Given the description of an element on the screen output the (x, y) to click on. 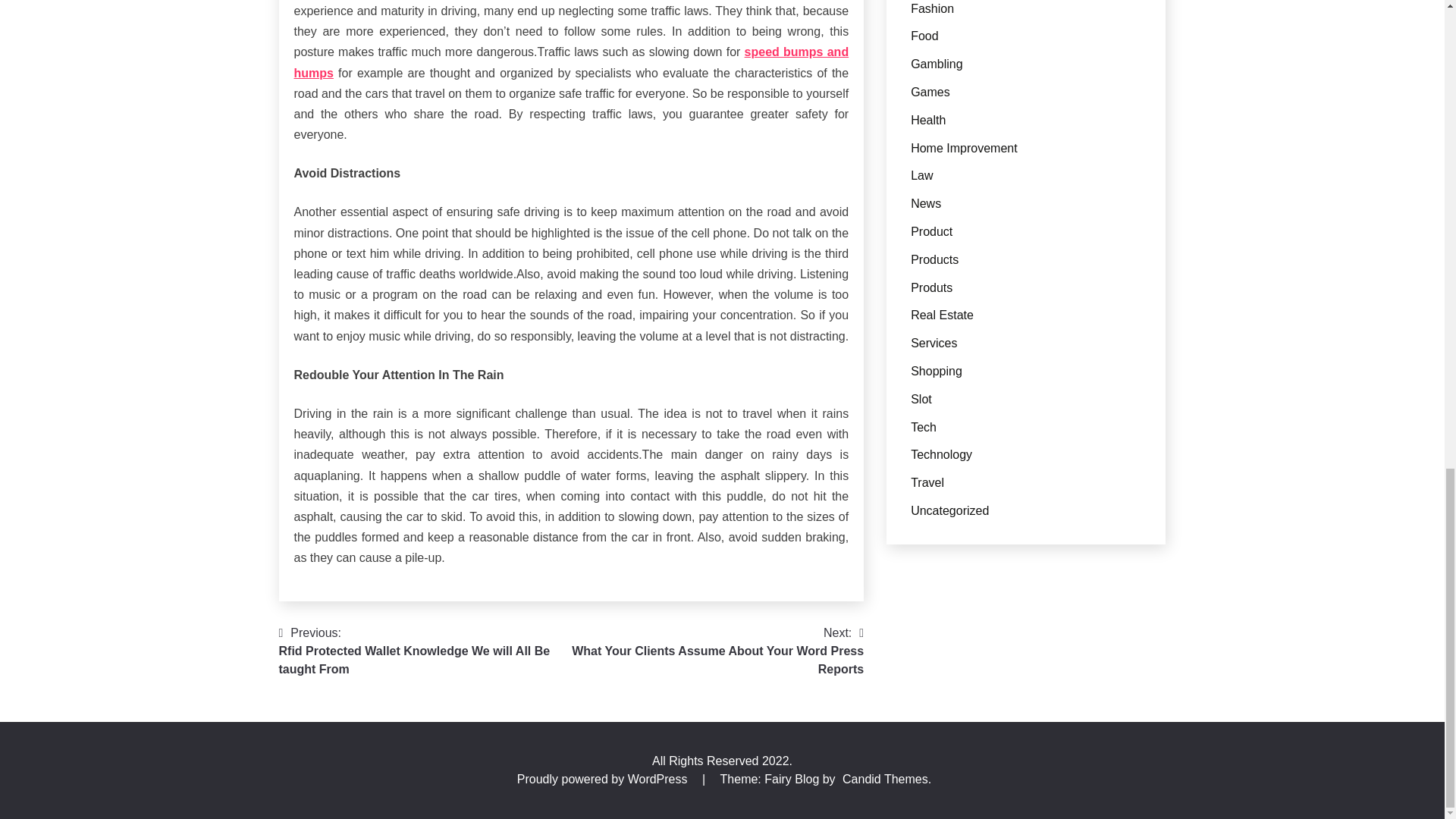
speed bumps and humps (571, 61)
Gambling (936, 63)
Food (716, 651)
Games (924, 35)
Fashion (930, 91)
Health (932, 8)
